Given the description of an element on the screen output the (x, y) to click on. 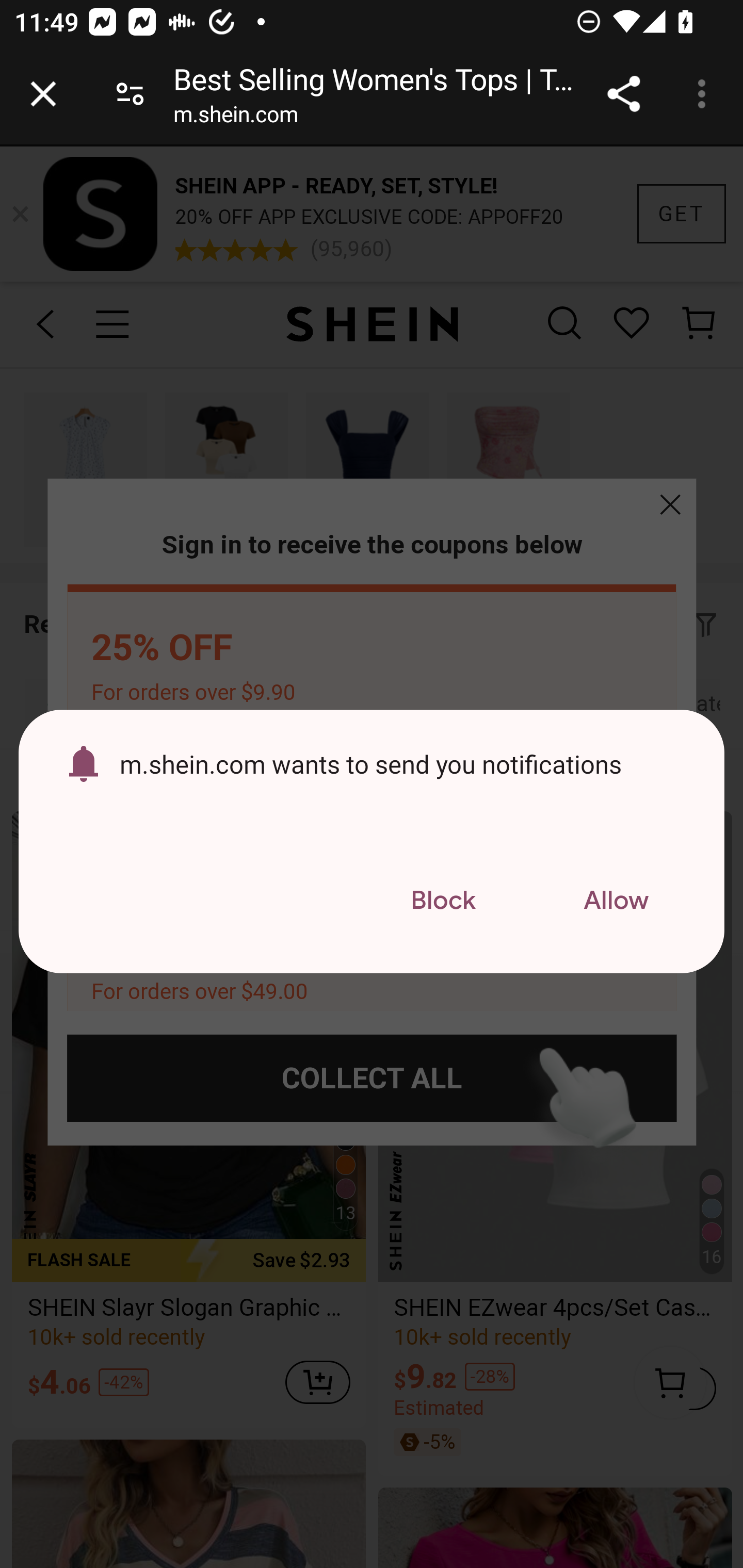
Close tab (43, 93)
Share link address (623, 93)
Customize and control Google Chrome (705, 93)
Connection is secure (129, 93)
m.shein.com (235, 117)
Block (442, 900)
Allow (615, 900)
